Given the description of an element on the screen output the (x, y) to click on. 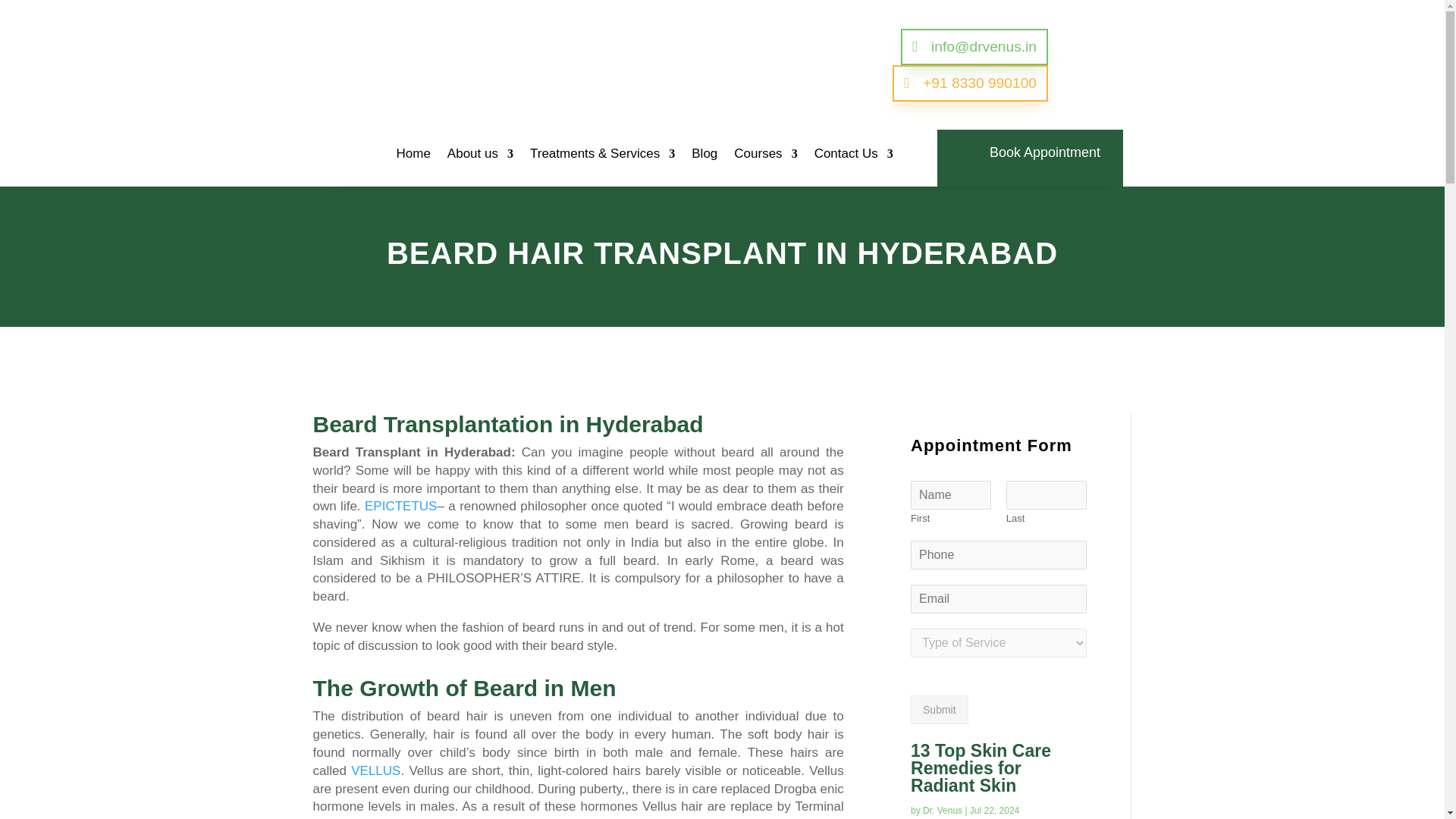
Courses (764, 156)
Posts by Dr. Venus (942, 810)
About us (479, 156)
Blog (704, 156)
Contact Us (853, 156)
Home (412, 156)
